Given the description of an element on the screen output the (x, y) to click on. 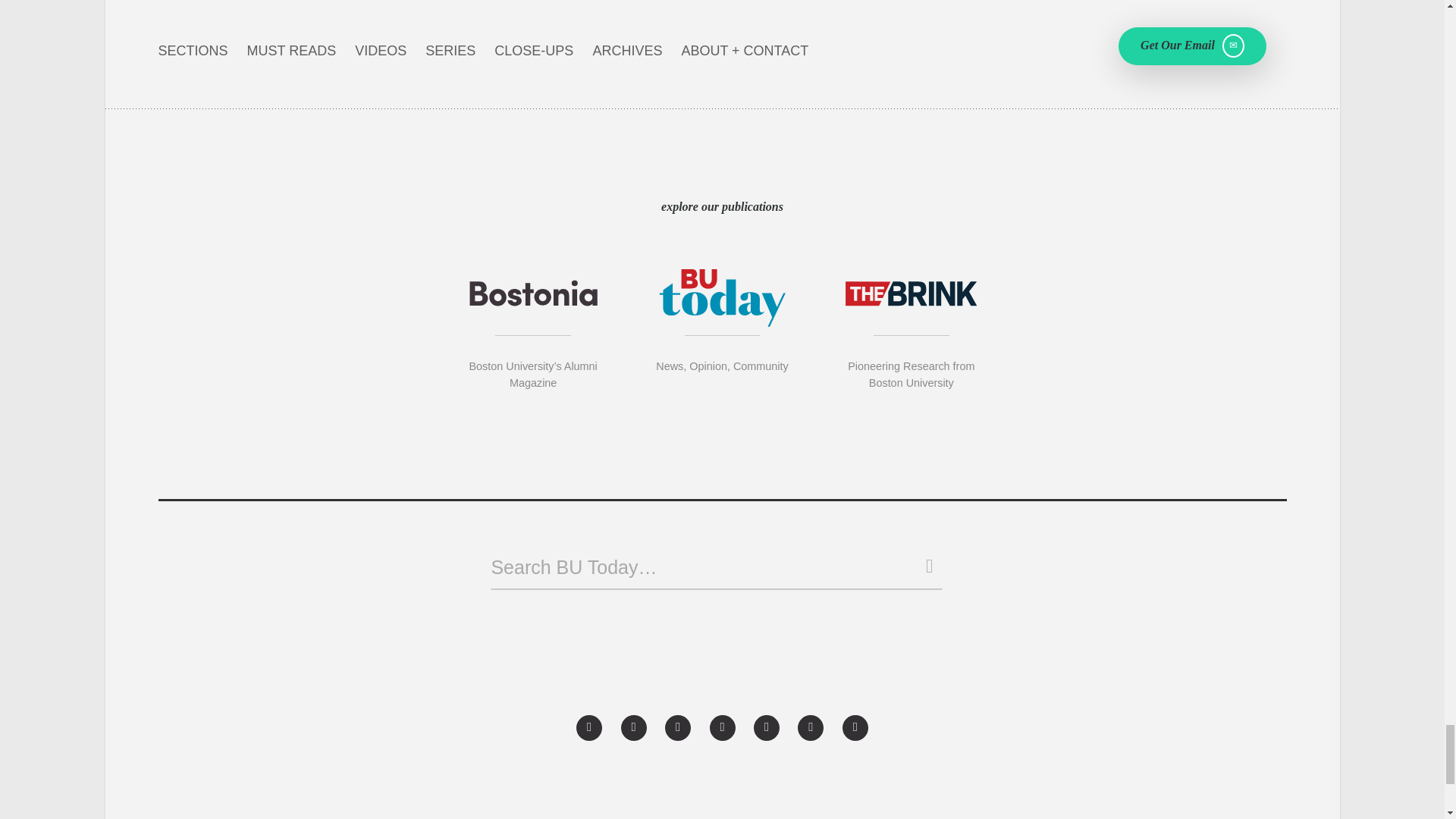
Navigate to: Must Reads (291, 50)
Navigate to: Videos (380, 50)
Navigate to: Archives (627, 50)
Navigate to: Sections (191, 50)
Navigate to: Close-ups (533, 50)
